Given the description of an element on the screen output the (x, y) to click on. 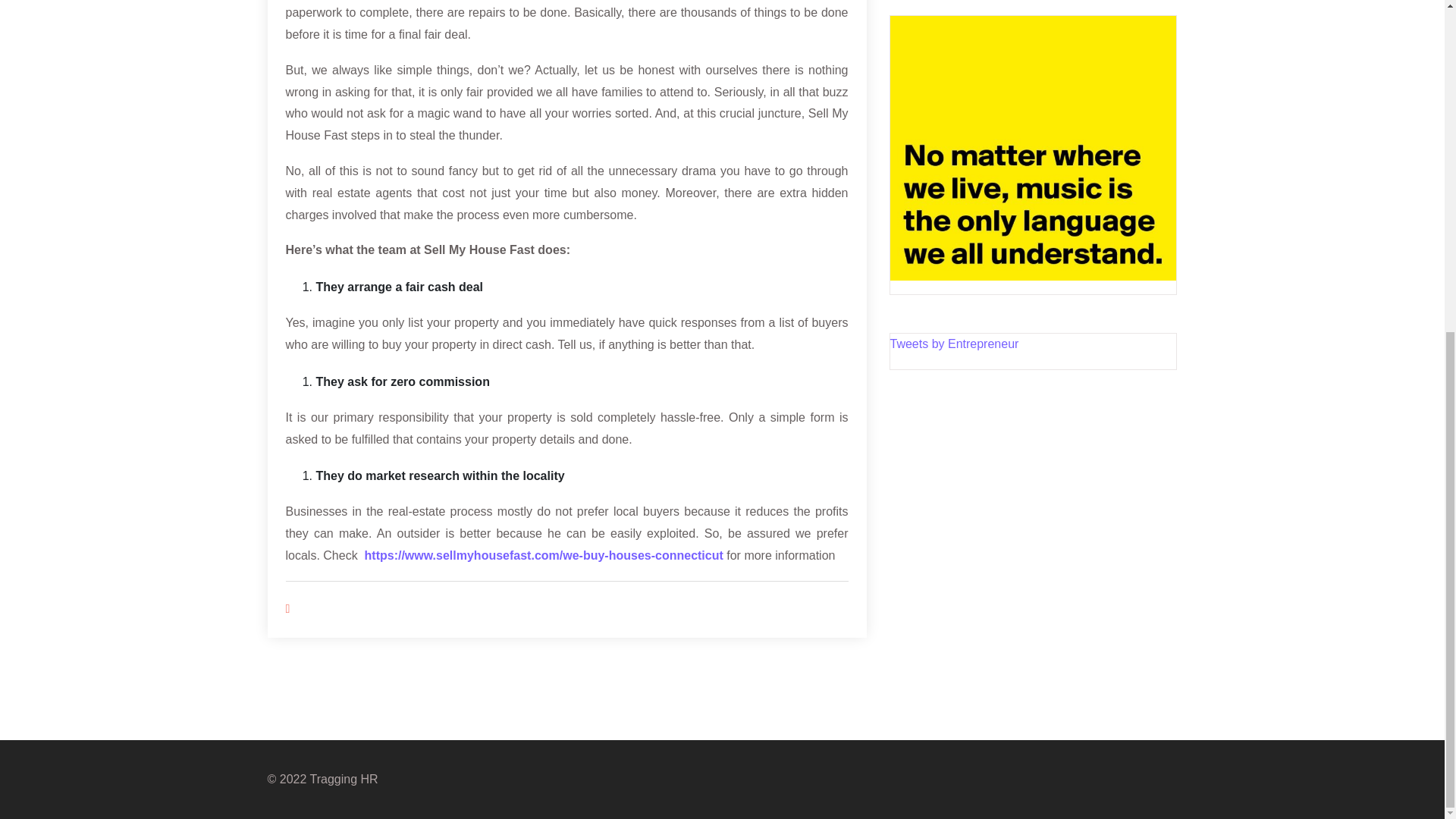
Tweets by Entrepreneur (954, 343)
